Given the description of an element on the screen output the (x, y) to click on. 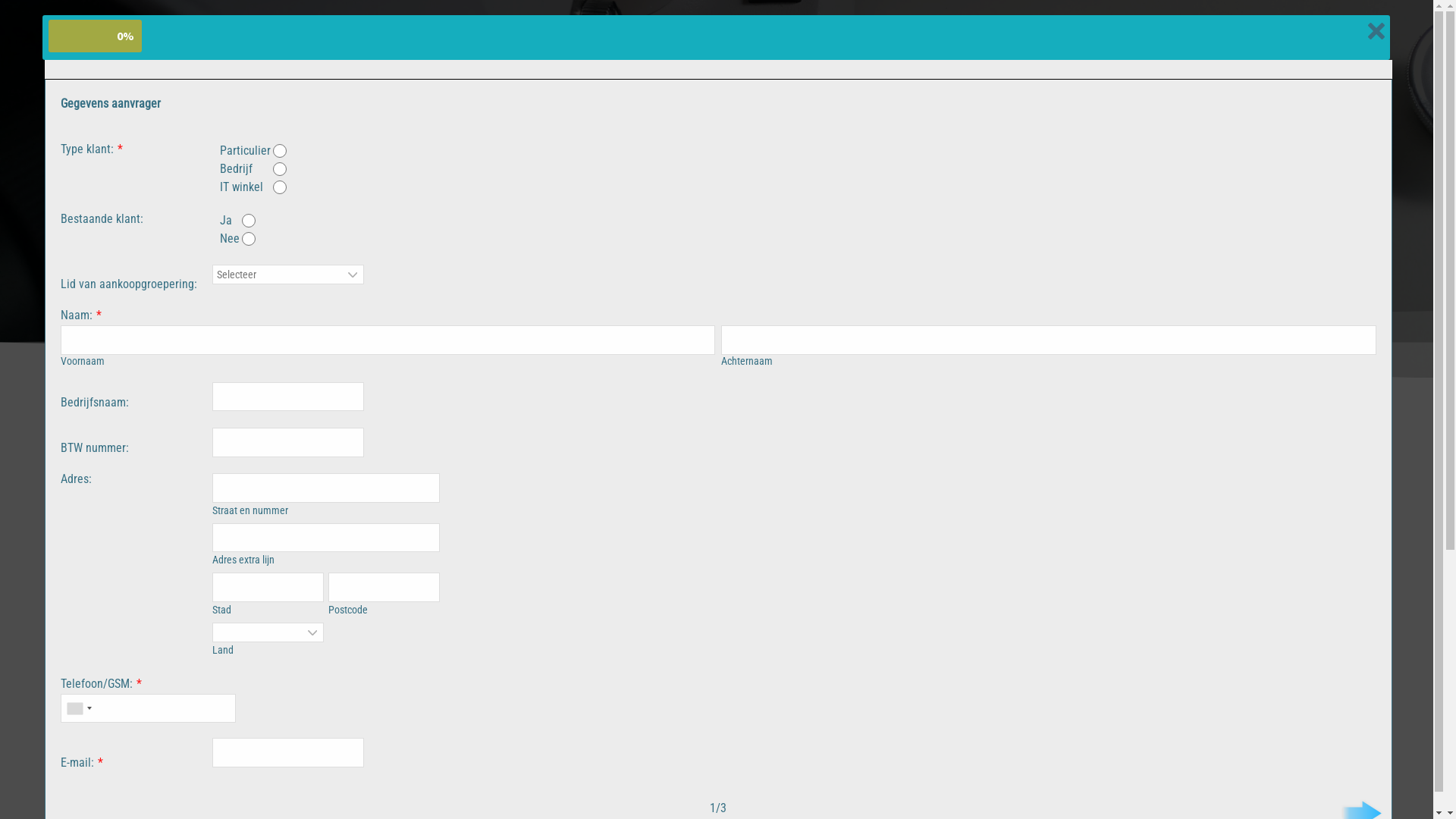
#1009 (PAS DE TITRE) Element type: text (1277, 100)
BLOG Element type: text (1337, 33)
klik hier Element type: text (627, 609)
#353 (PAS DE TITRE) Element type: text (931, 33)
#120 (PAS DE TITRE) Element type: text (564, 33)
#350 (PAS DE TITRE) Element type: text (1115, 33)
Particulier Element type: text (4, 4)
SHADOW Element type: text (1253, 33)
#321 (PAS DE TITRE) Element type: text (747, 33)
